Given the description of an element on the screen output the (x, y) to click on. 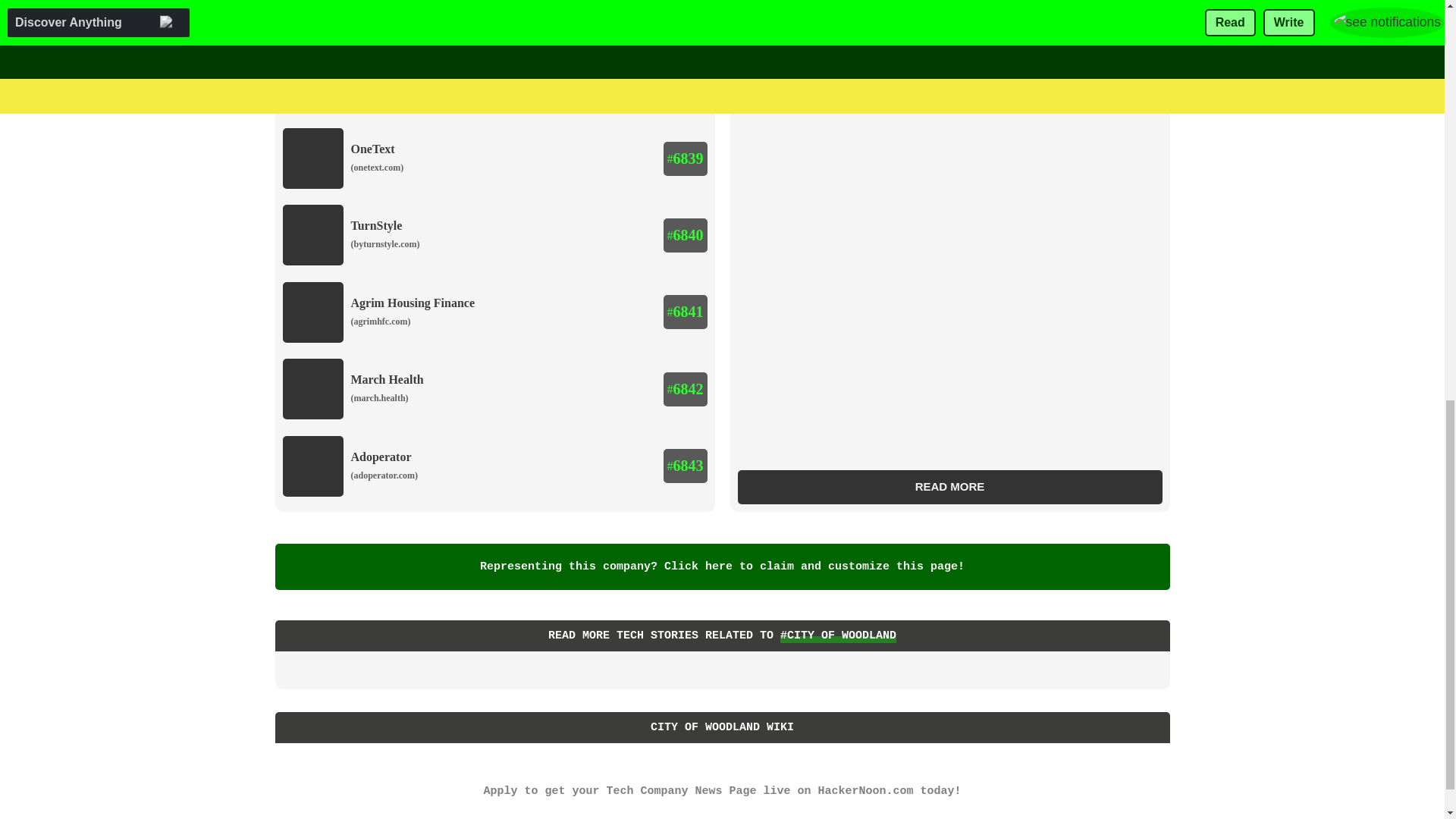
TurnStyle (375, 225)
OneText (372, 148)
Agrim Housing Finance (412, 302)
Wisr (362, 72)
Adoperator (380, 456)
READ MORE (948, 487)
March Health (386, 379)
AppMap (373, 0)
